Given the description of an element on the screen output the (x, y) to click on. 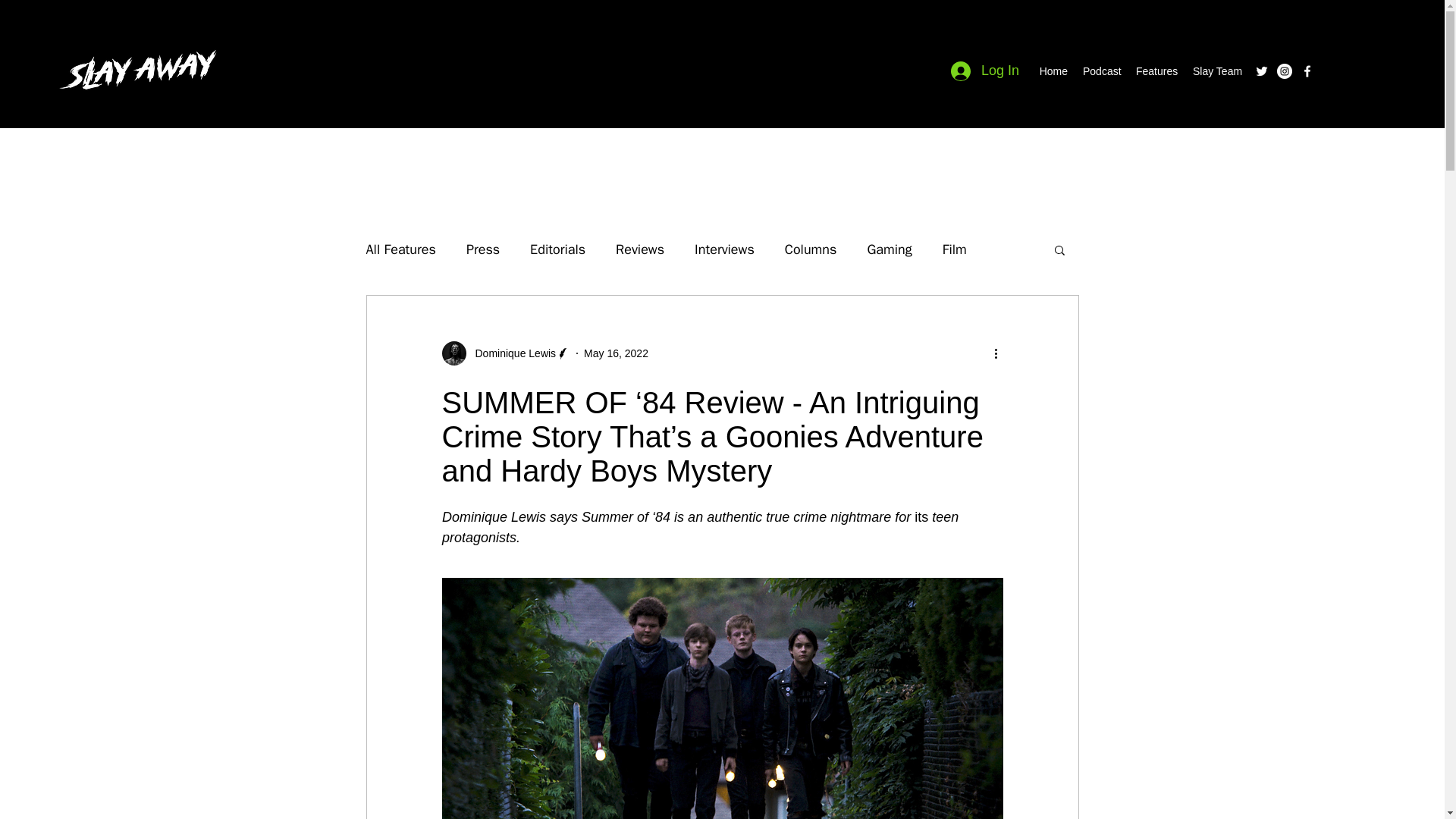
Log In (984, 70)
All Features (400, 249)
Dominique Lewis (505, 353)
Dominique Lewis (510, 353)
Podcast (1101, 70)
Features (1156, 70)
Home (1052, 70)
Slay Team (1215, 70)
Film (954, 249)
Interviews (724, 249)
